Given the description of an element on the screen output the (x, y) to click on. 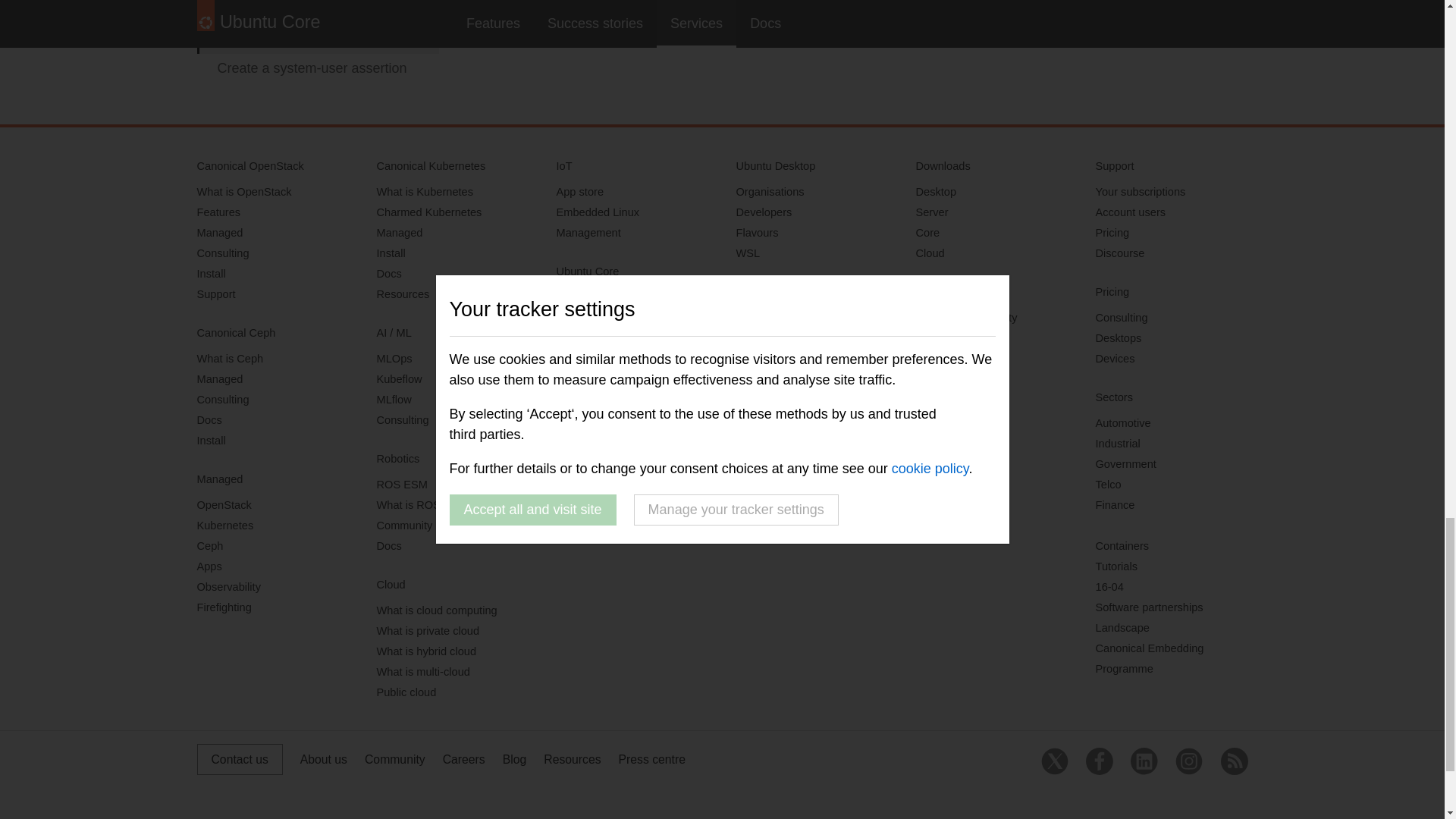
Follow Ubuntu on Twitter (1054, 760)
Use the Ubuntu Blog rss feed (1234, 760)
Find Canonical on LinkedIn (1144, 760)
Follow Ubuntu on Facebook (1099, 760)
Follow Ubuntu on Instagram (1188, 760)
